Given the description of an element on the screen output the (x, y) to click on. 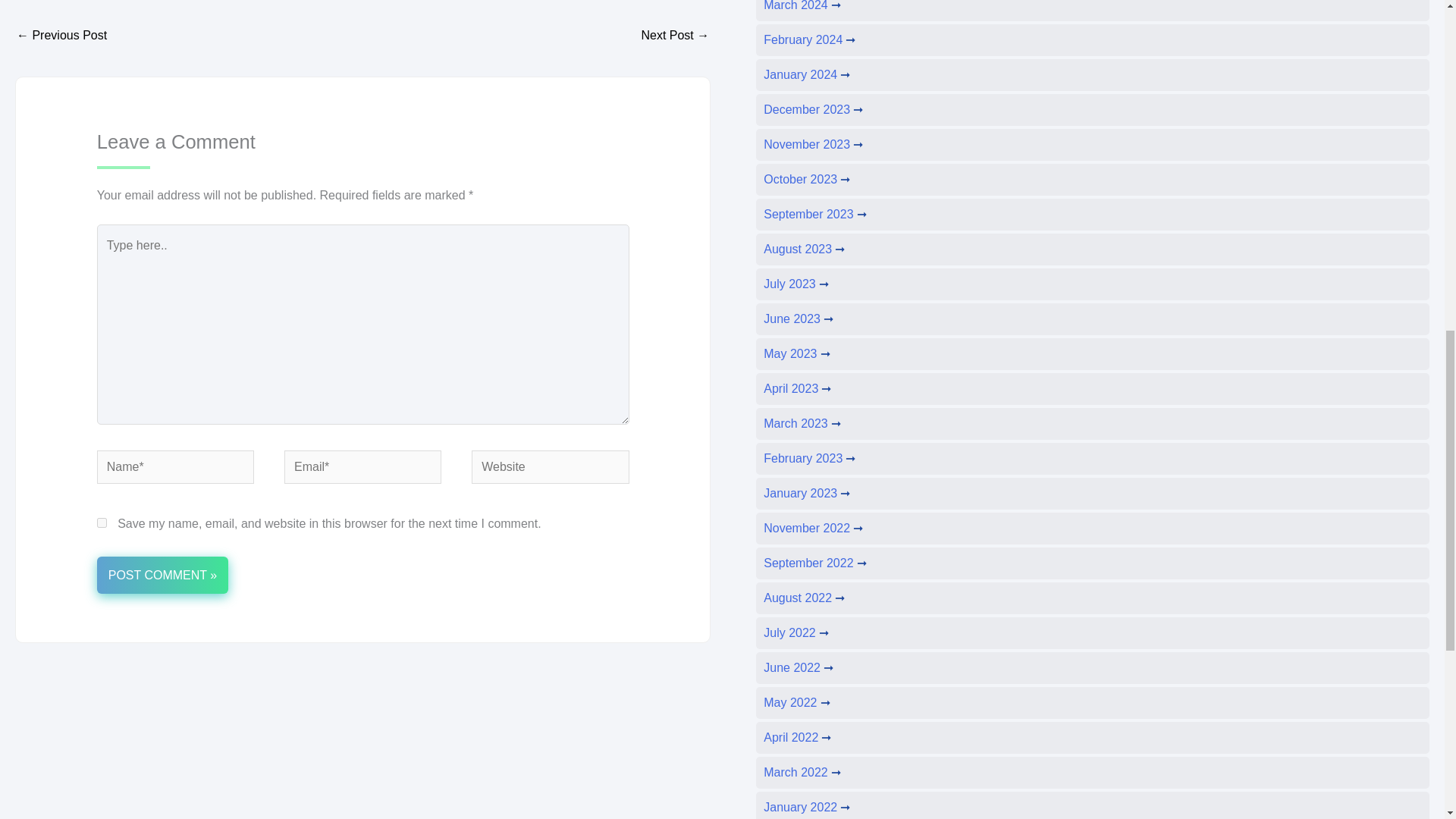
NFT Weekly Blog: Twitter, Elon Musk, and BAYC NFTs (61, 36)
March 2023 (801, 422)
January 2023 (806, 492)
June 2023 (797, 318)
December 2023 (812, 109)
January 2024 (806, 74)
yes (101, 522)
February 2023 (809, 458)
September 2023 (814, 214)
October 2023 (806, 178)
